Given the description of an element on the screen output the (x, y) to click on. 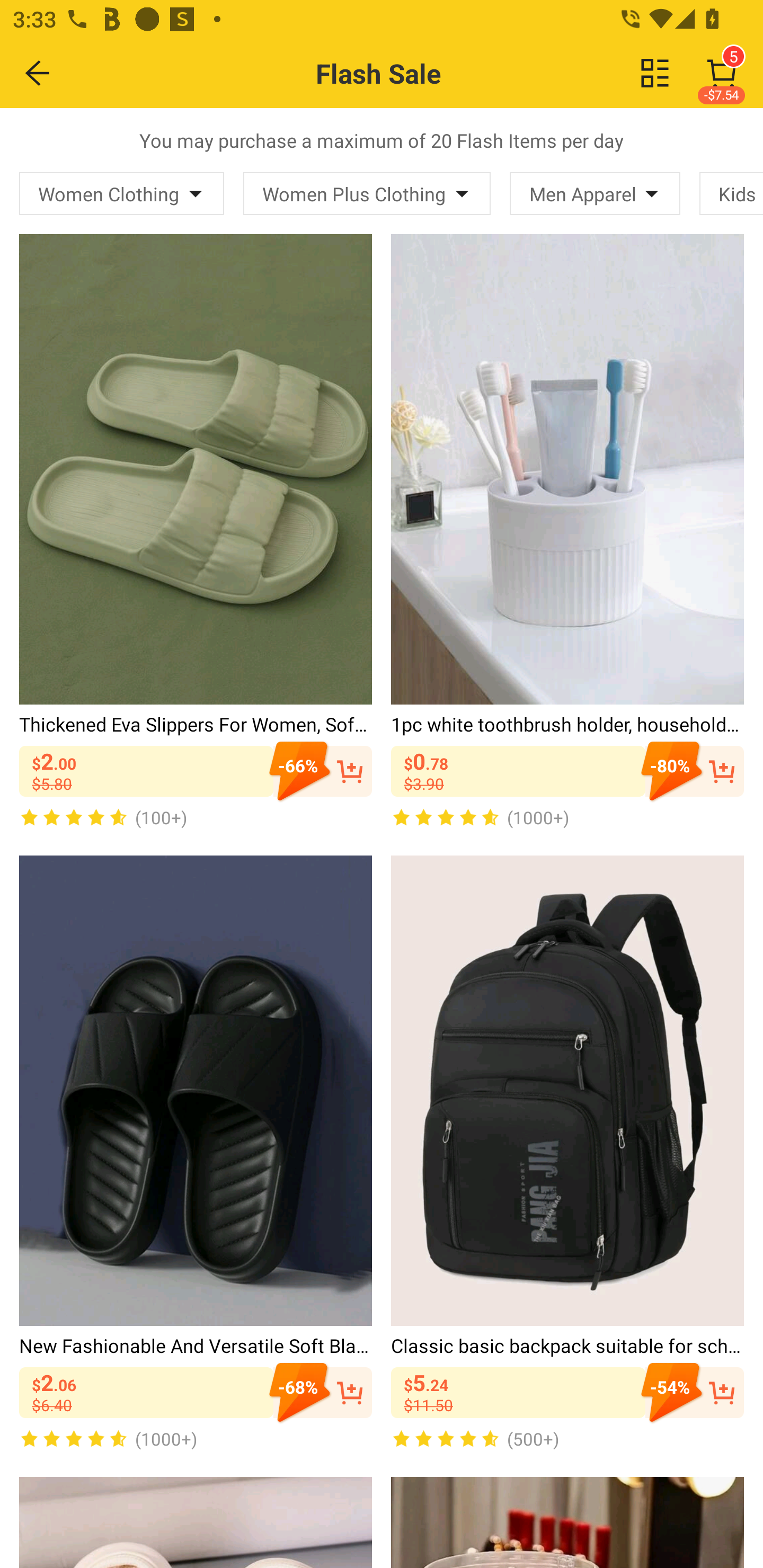
Flash Sale change view 5 -$7.54 (419, 72)
5 -$7.54 (721, 72)
change view (654, 72)
BACK (38, 72)
Women Clothing (121, 193)
Women Plus Clothing (366, 193)
Men Apparel (594, 193)
